Given the description of an element on the screen output the (x, y) to click on. 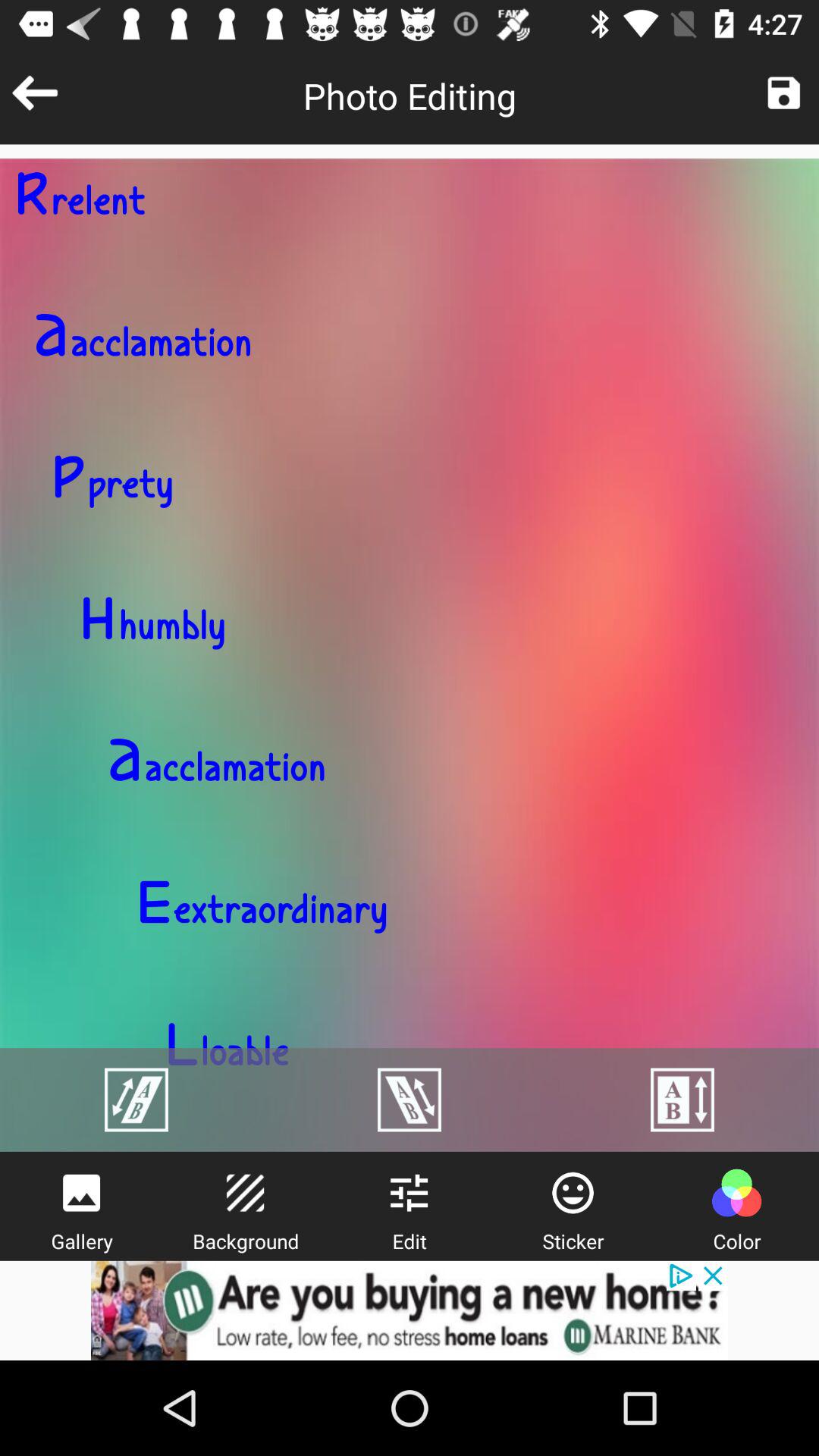
pick sticker (572, 1192)
